Given the description of an element on the screen output the (x, y) to click on. 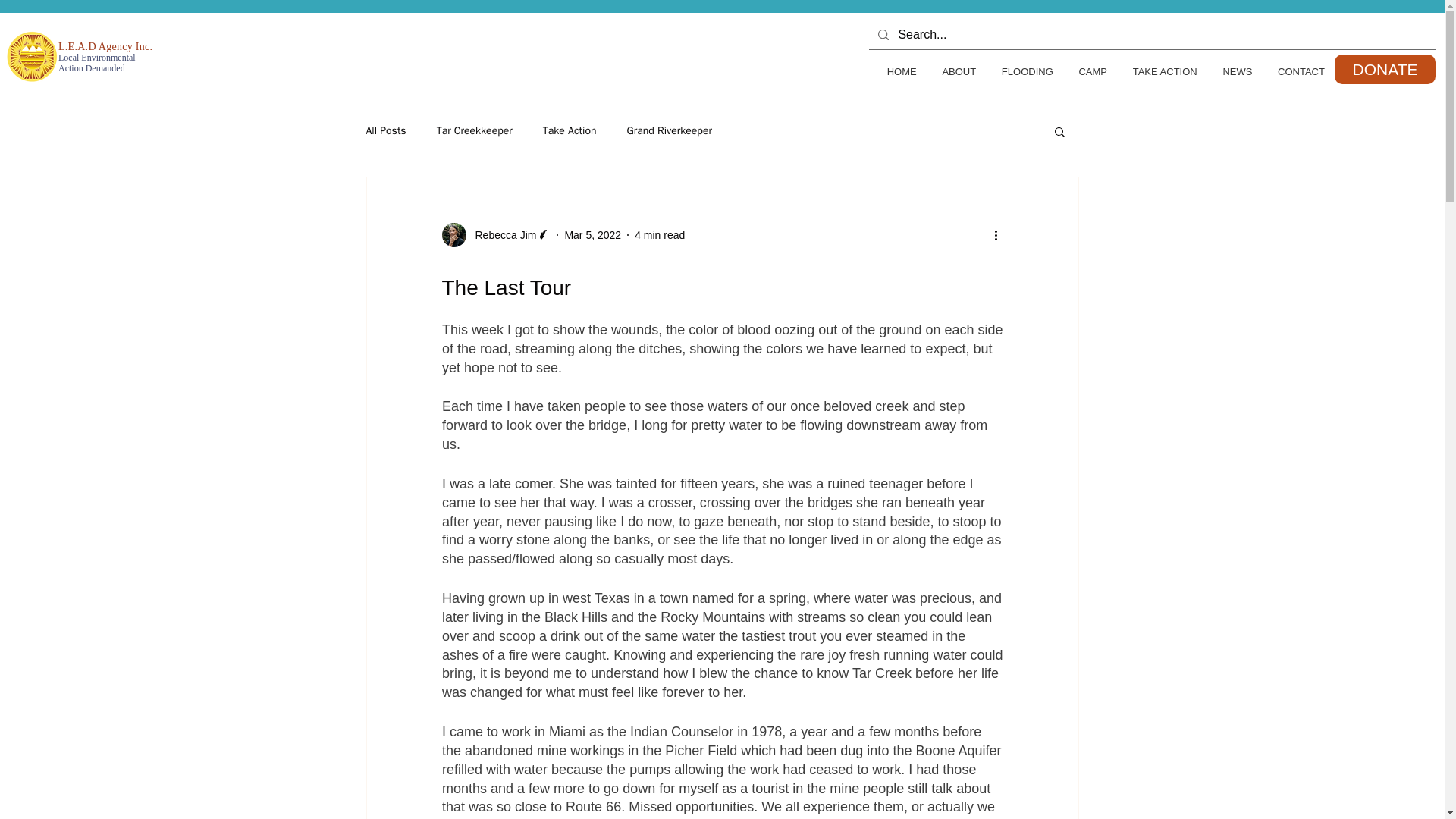
FLOODING (1021, 71)
Grand Riverkeeper (669, 131)
Take Action (569, 131)
TAKE ACTION (1158, 71)
CONTACT (1294, 71)
All Posts (385, 131)
HOME (895, 71)
Rebecca Jim (500, 235)
Mar 5, 2022 (592, 234)
ABOUT (951, 71)
Rebecca Jim (495, 234)
DONATE (1385, 69)
CAMP (1086, 71)
4 min read (659, 234)
NEWS (1231, 71)
